Given the description of an element on the screen output the (x, y) to click on. 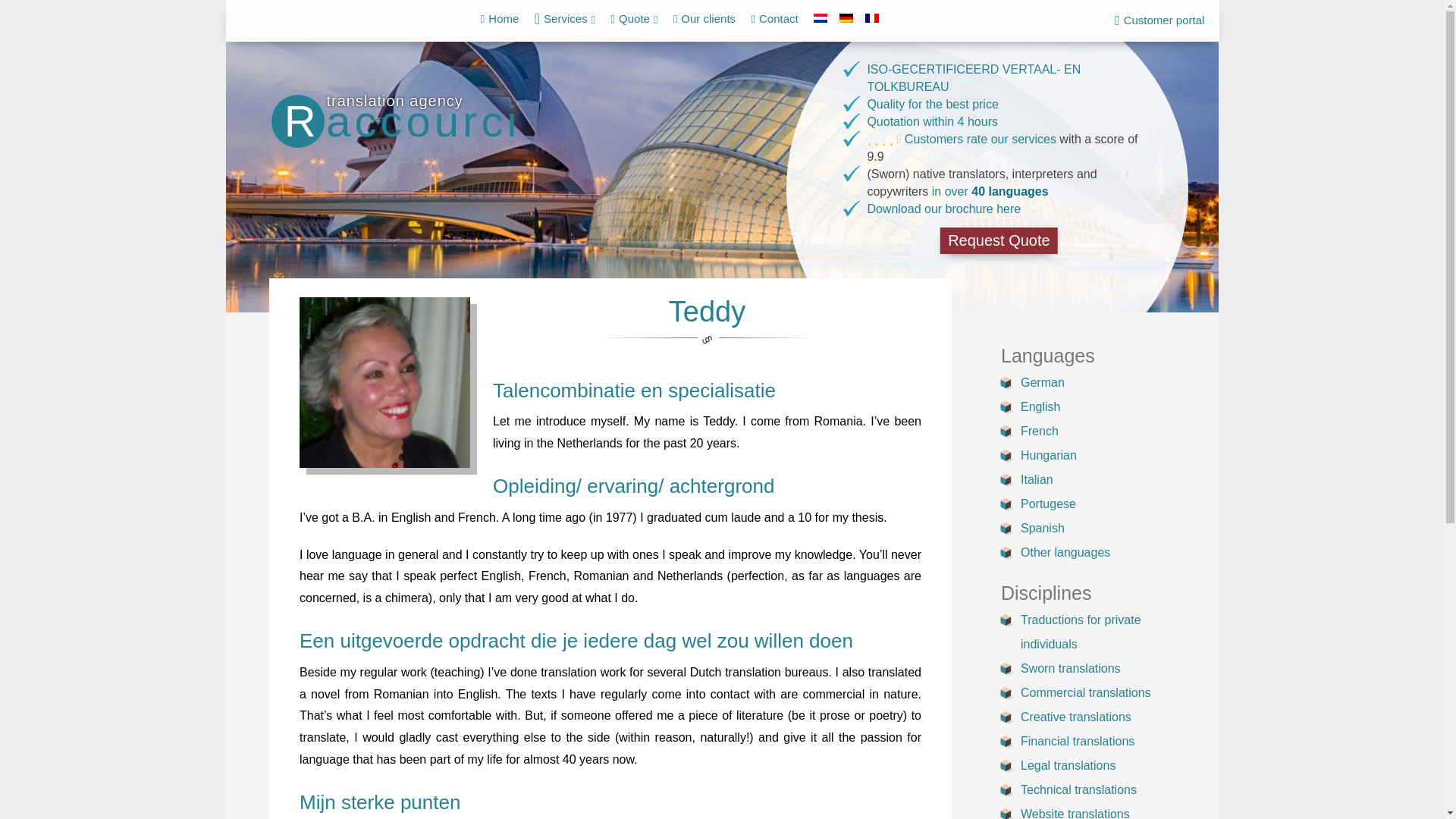
Home (499, 18)
Quote (634, 18)
Our clients (703, 18)
Services (564, 18)
Contact (775, 18)
